Given the description of an element on the screen output the (x, y) to click on. 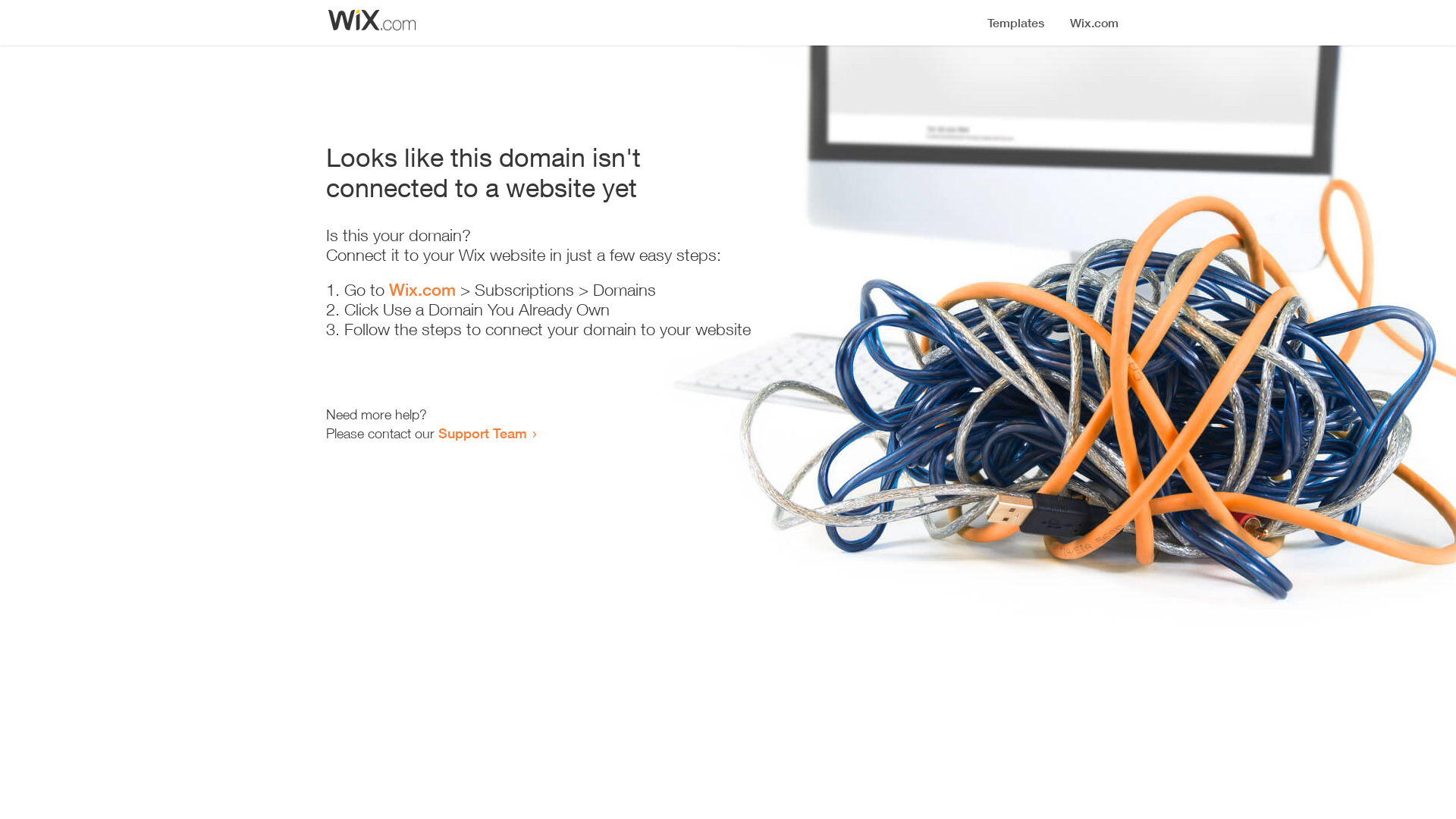
Support Team Element type: text (482, 432)
Wix.com Element type: text (422, 289)
